Given the description of an element on the screen output the (x, y) to click on. 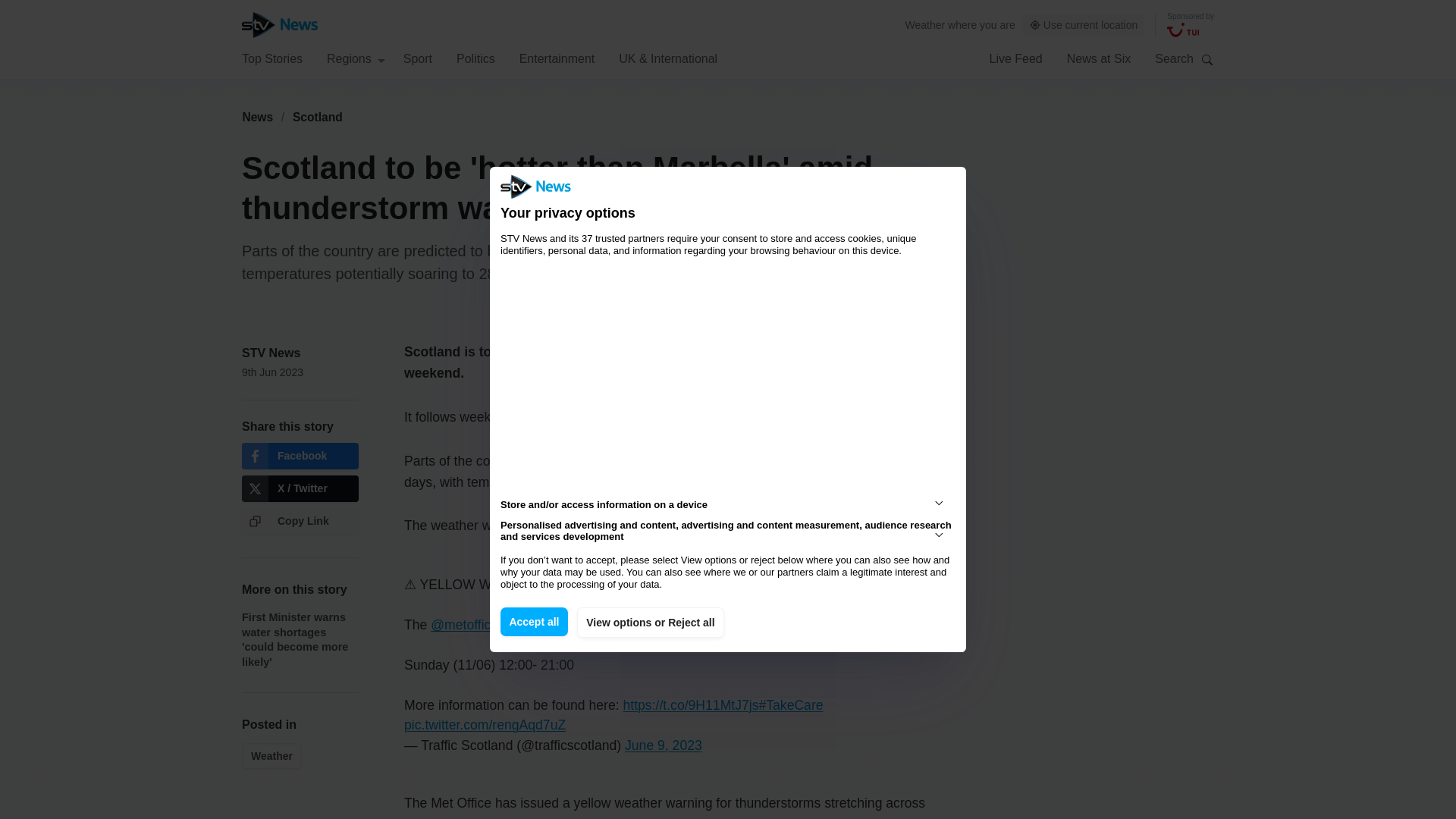
Regions (355, 57)
Top Stories (271, 57)
Facebook (299, 456)
Weather (924, 24)
Use current location (1083, 25)
Live Feed (1015, 57)
News (257, 116)
News at Six (1099, 57)
Entertainment (557, 57)
